Given the description of an element on the screen output the (x, y) to click on. 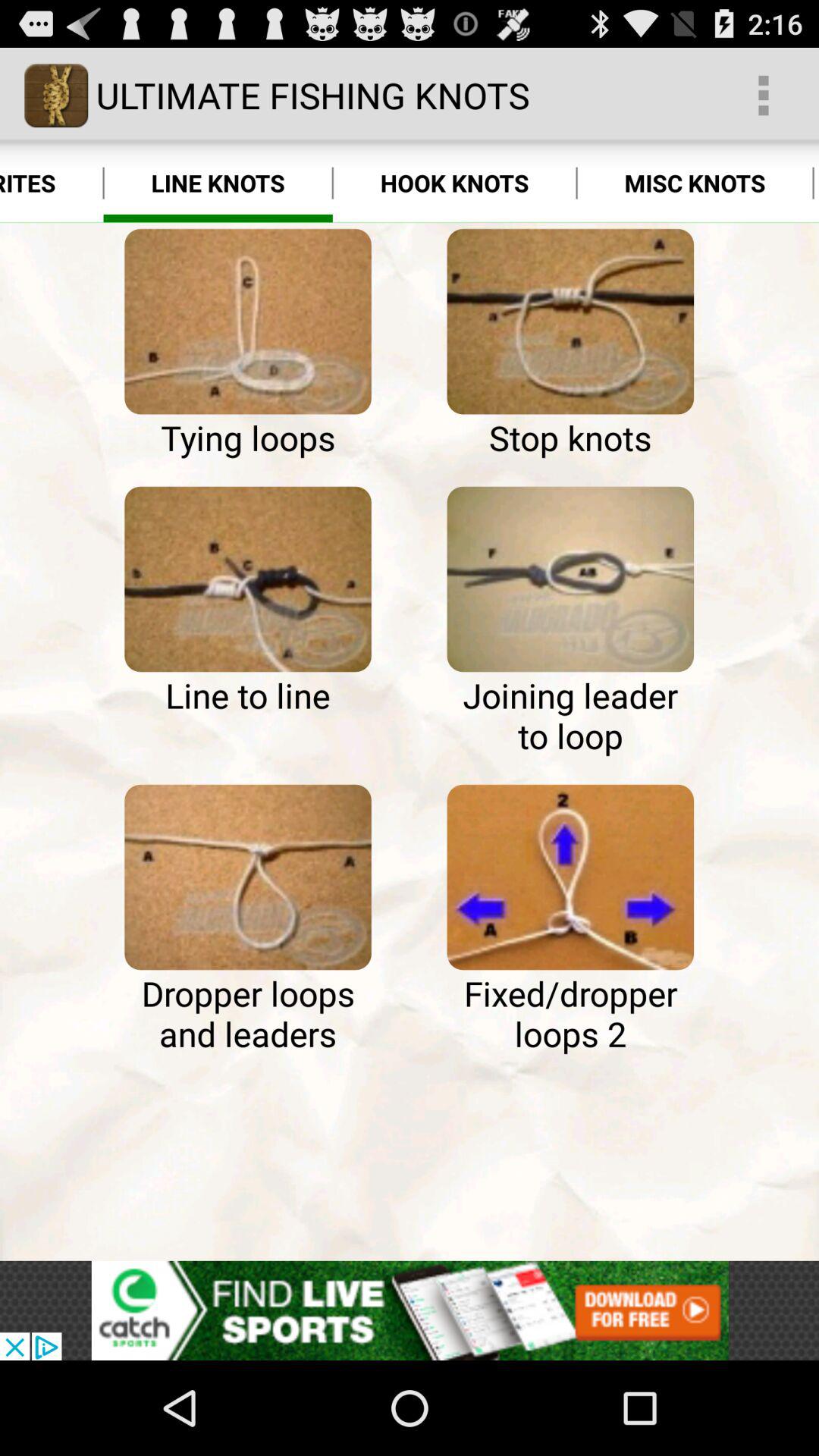
click to select (570, 321)
